Given the description of an element on the screen output the (x, y) to click on. 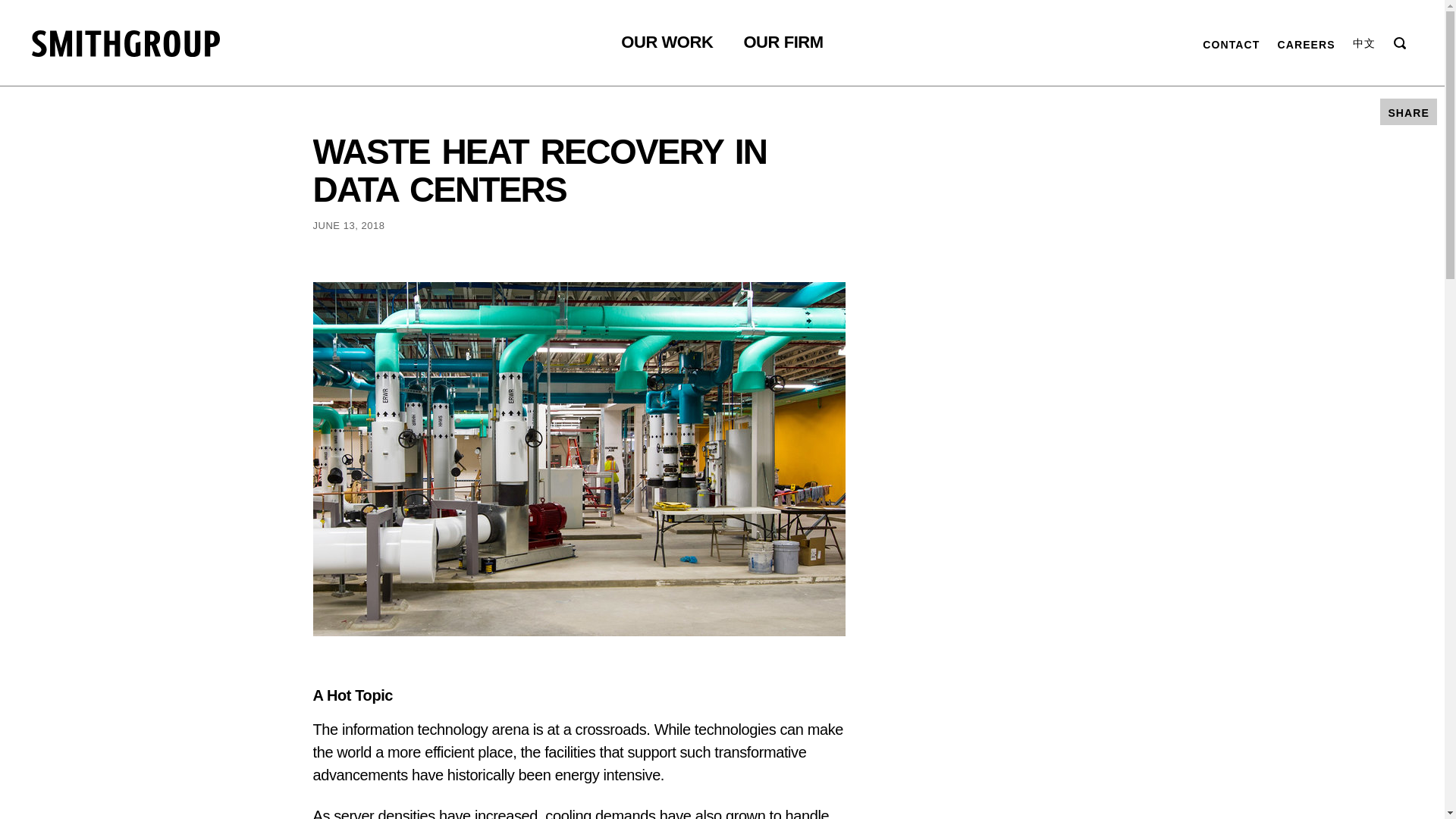
Skip to main content (29, 7)
Home (125, 43)
CAREERS (1305, 43)
CONTACT (1230, 43)
